Given the description of an element on the screen output the (x, y) to click on. 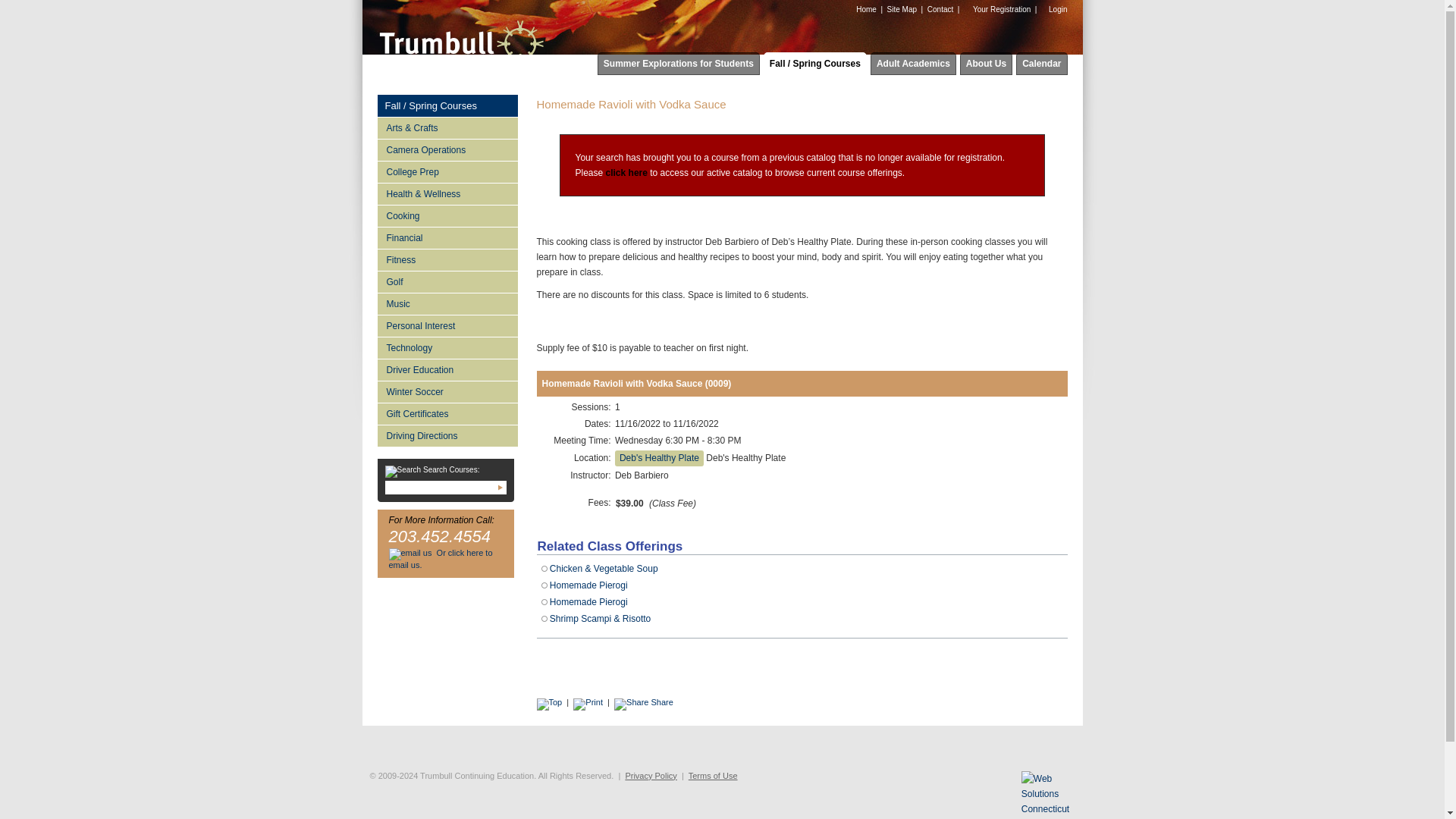
Login (1054, 8)
Cooking (447, 215)
Gift Certificates (447, 413)
click here (626, 172)
Fitness (447, 259)
Golf (447, 281)
Summer Explorations for Students (678, 63)
Privacy Policy (650, 775)
Personal Interest (447, 325)
Driver Education (447, 369)
